Given the description of an element on the screen output the (x, y) to click on. 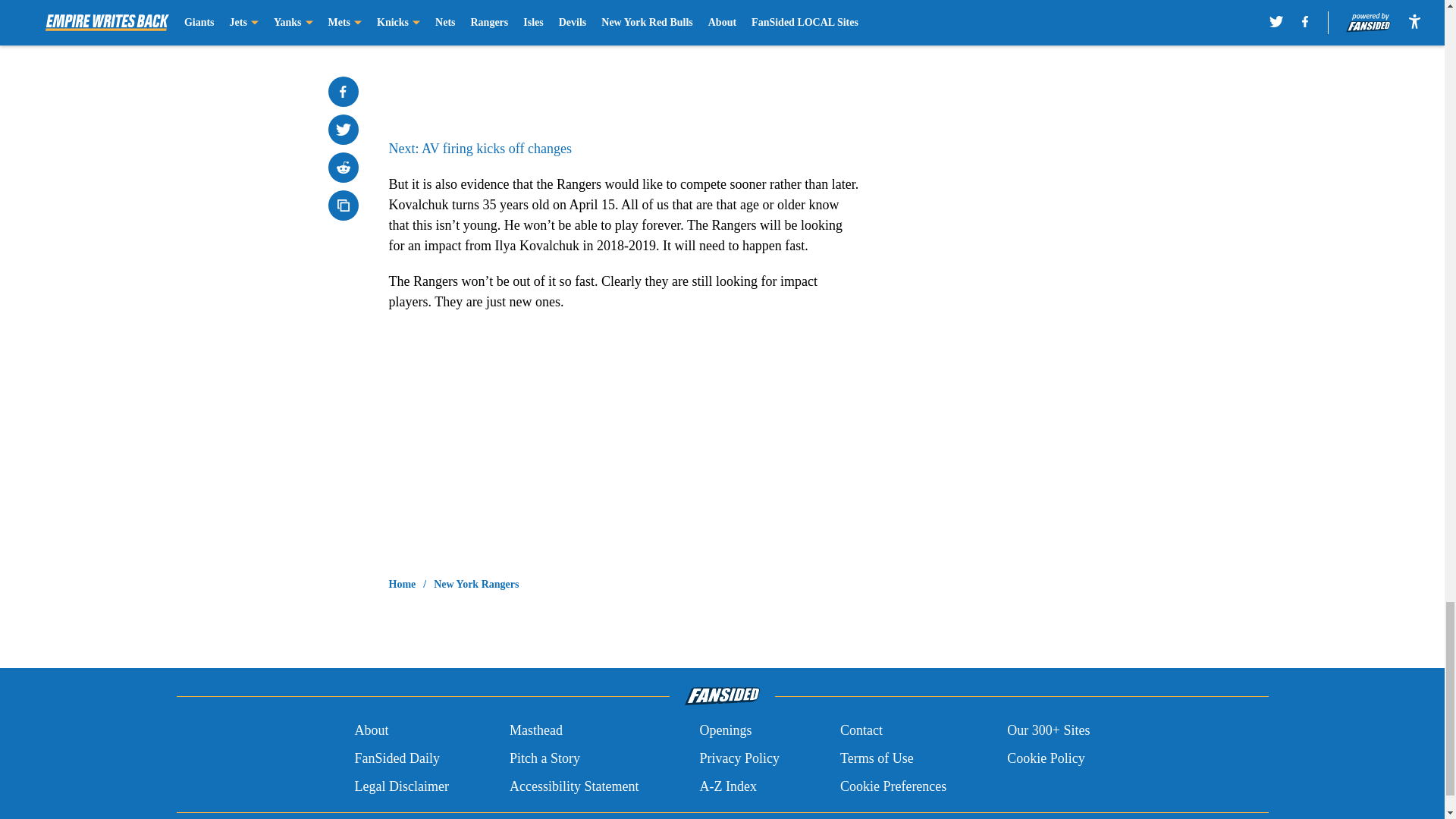
Next: AV firing kicks off changes (479, 148)
Home (401, 584)
New York Rangers (475, 584)
